Given the description of an element on the screen output the (x, y) to click on. 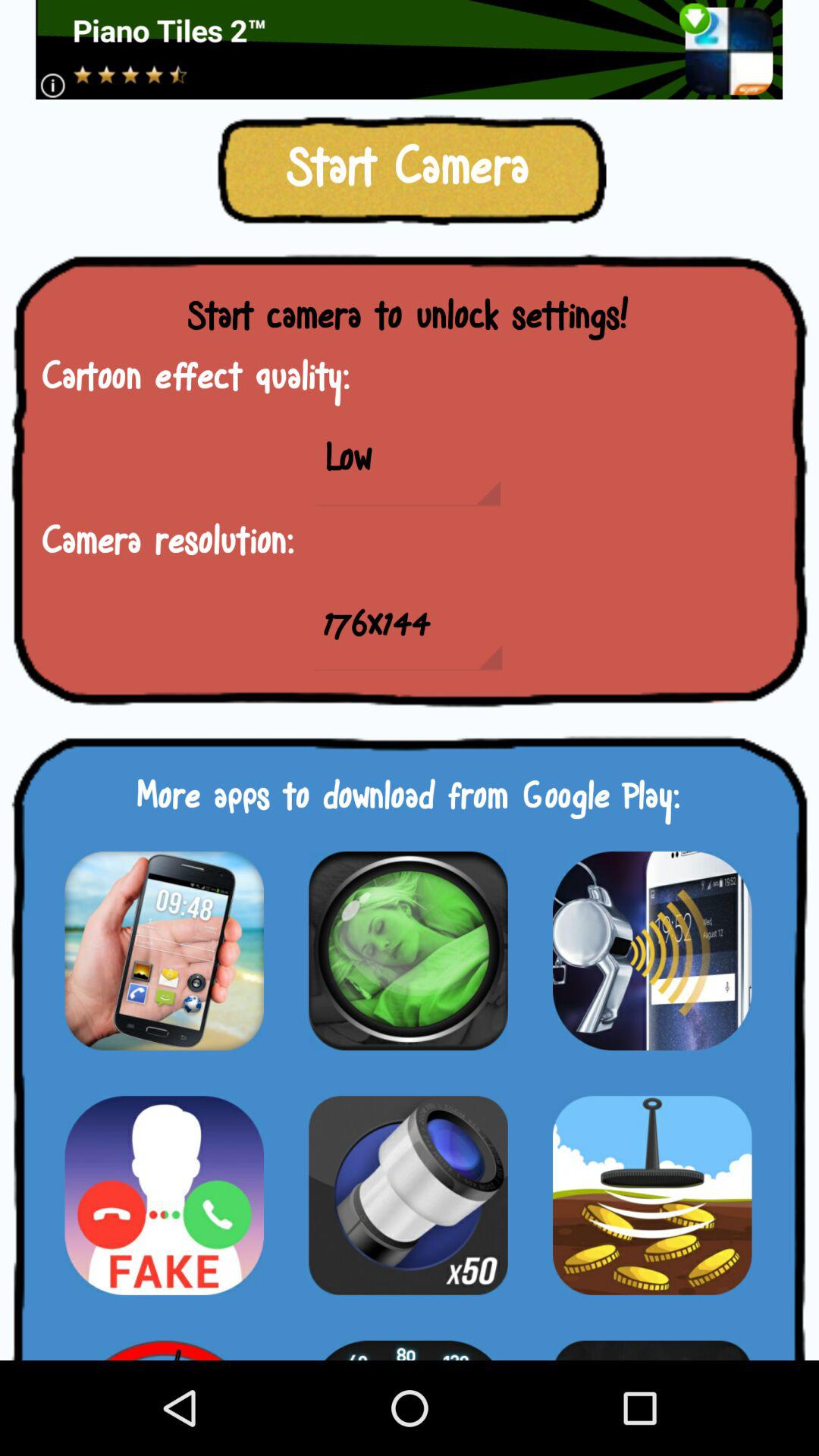
download the app (652, 1195)
